Given the description of an element on the screen output the (x, y) to click on. 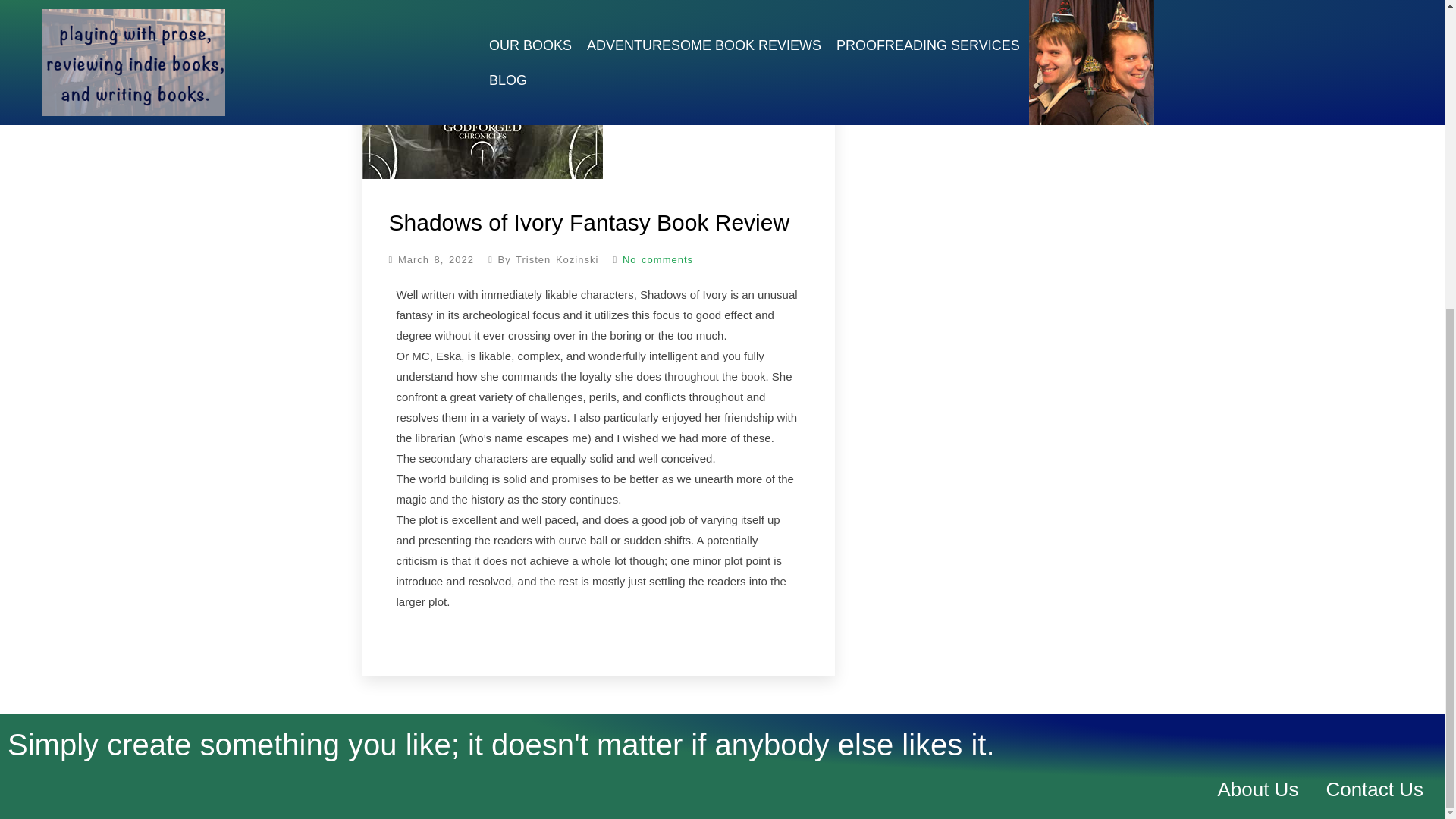
About Us (1257, 788)
No comments (648, 259)
Contact Us (1374, 788)
